Given the description of an element on the screen output the (x, y) to click on. 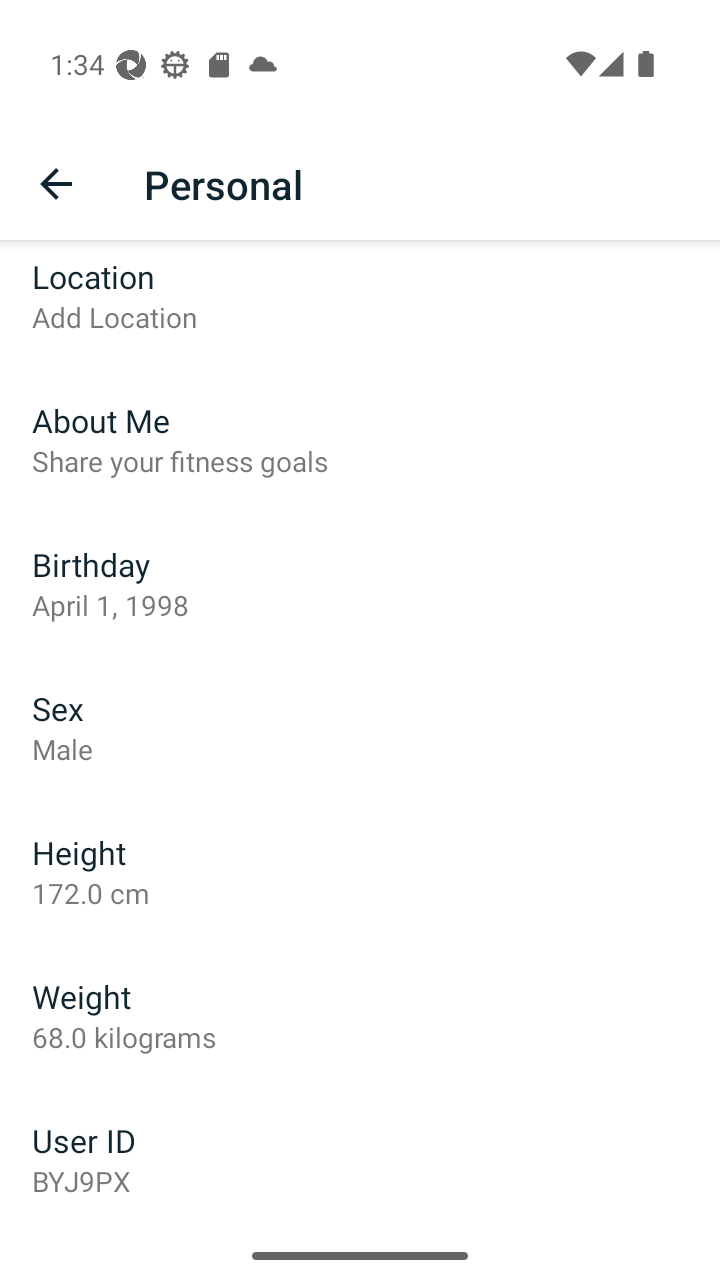
Location Add Location (360, 304)
About Me Share your fitness goals (360, 440)
Birthday April 1, 1998 (360, 583)
Sex Male (360, 727)
Height 172.0 cm (360, 872)
Weight 68.0 kilograms (360, 1016)
User ID BYJ9PX (360, 1159)
